Given the description of an element on the screen output the (x, y) to click on. 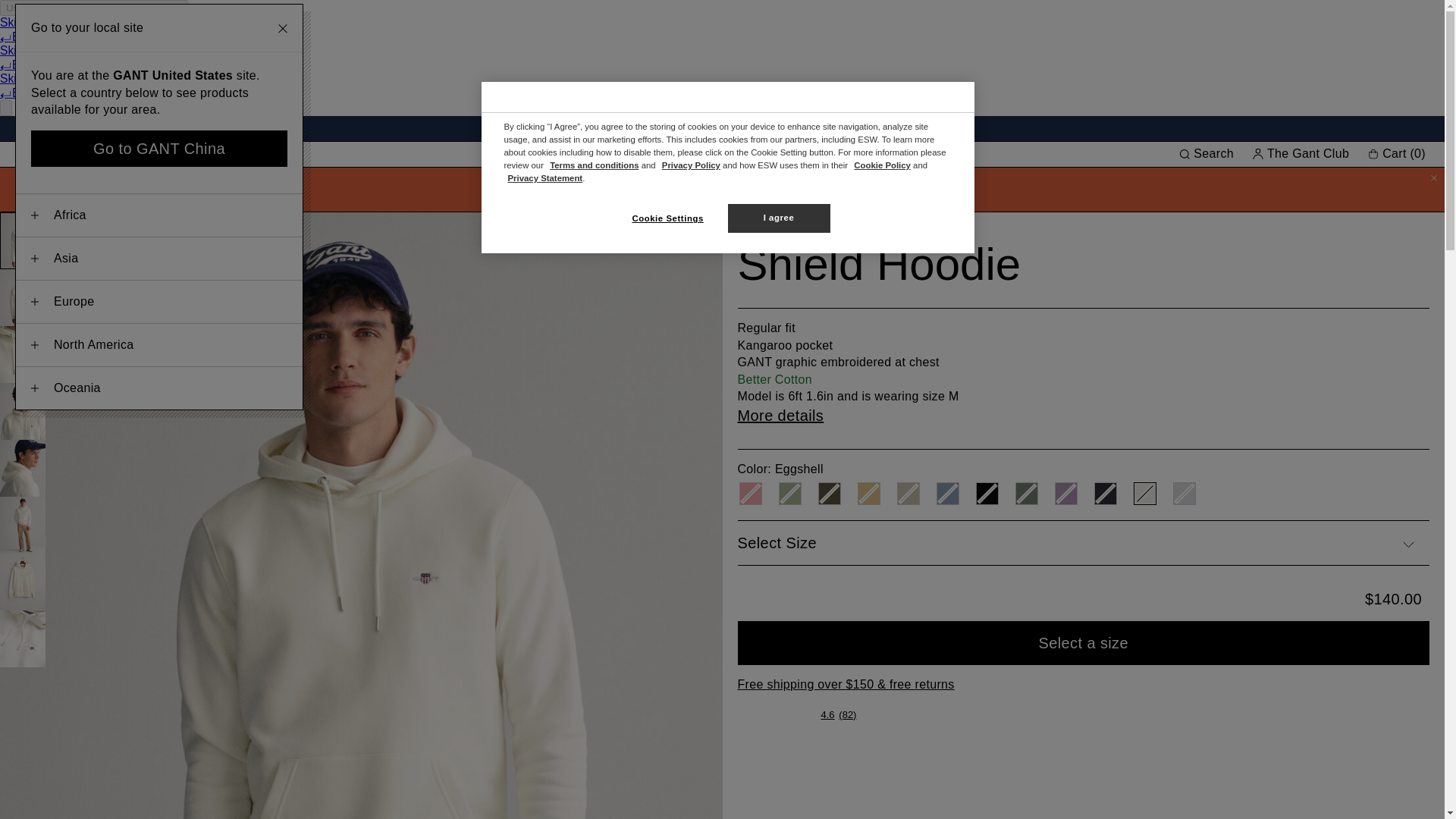
BUBBELGUM PINK (749, 493)
BLACK (986, 493)
0 items in your cart (1398, 153)
SILKY BEIGE (907, 493)
EGGSHELL (1144, 493)
Men (26, 154)
